Given the description of an element on the screen output the (x, y) to click on. 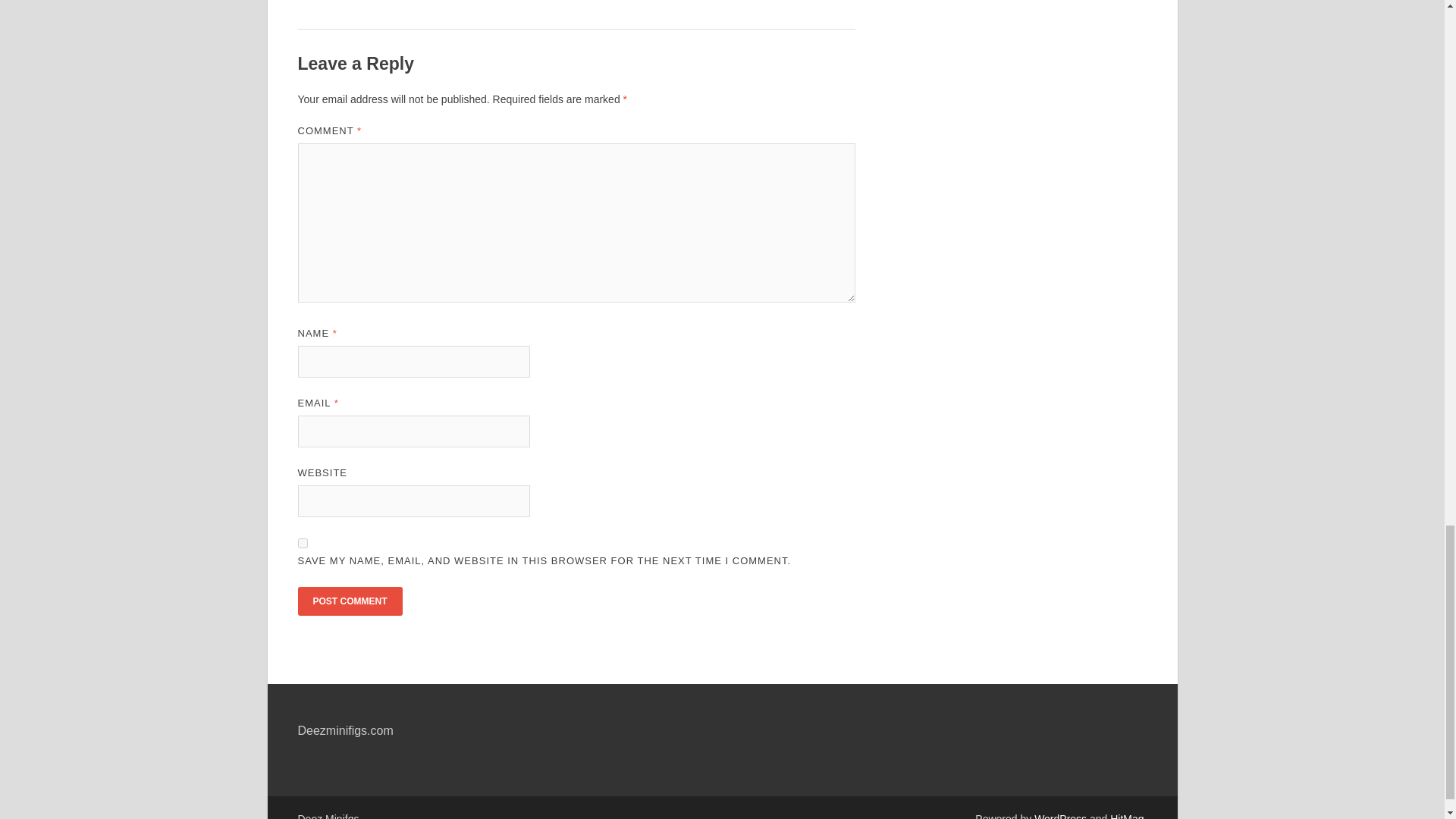
Post Comment (349, 601)
yes (302, 542)
Post Comment (349, 601)
